Given the description of an element on the screen output the (x, y) to click on. 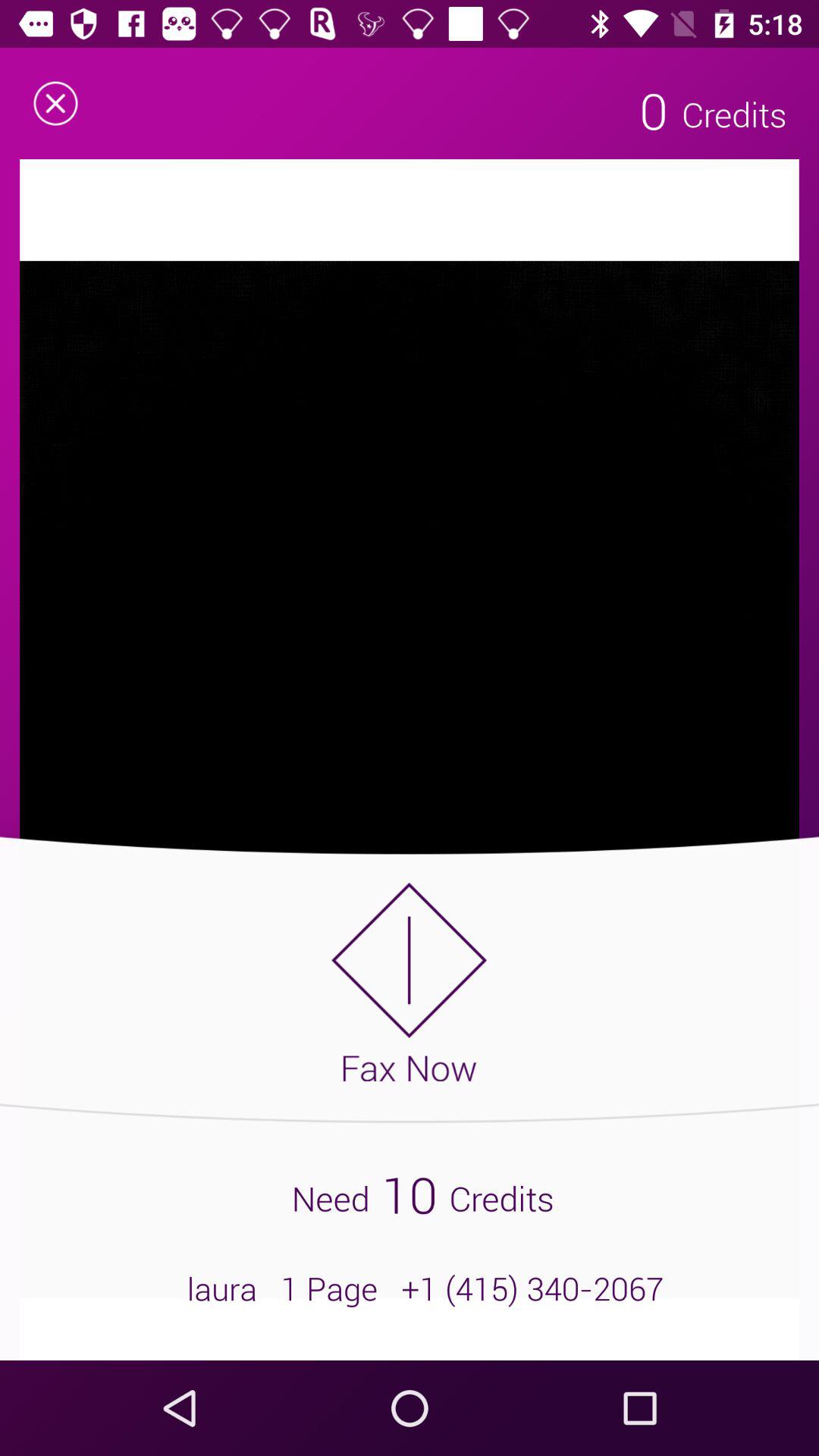
flip to laura 1 page icon (409, 1288)
